Given the description of an element on the screen output the (x, y) to click on. 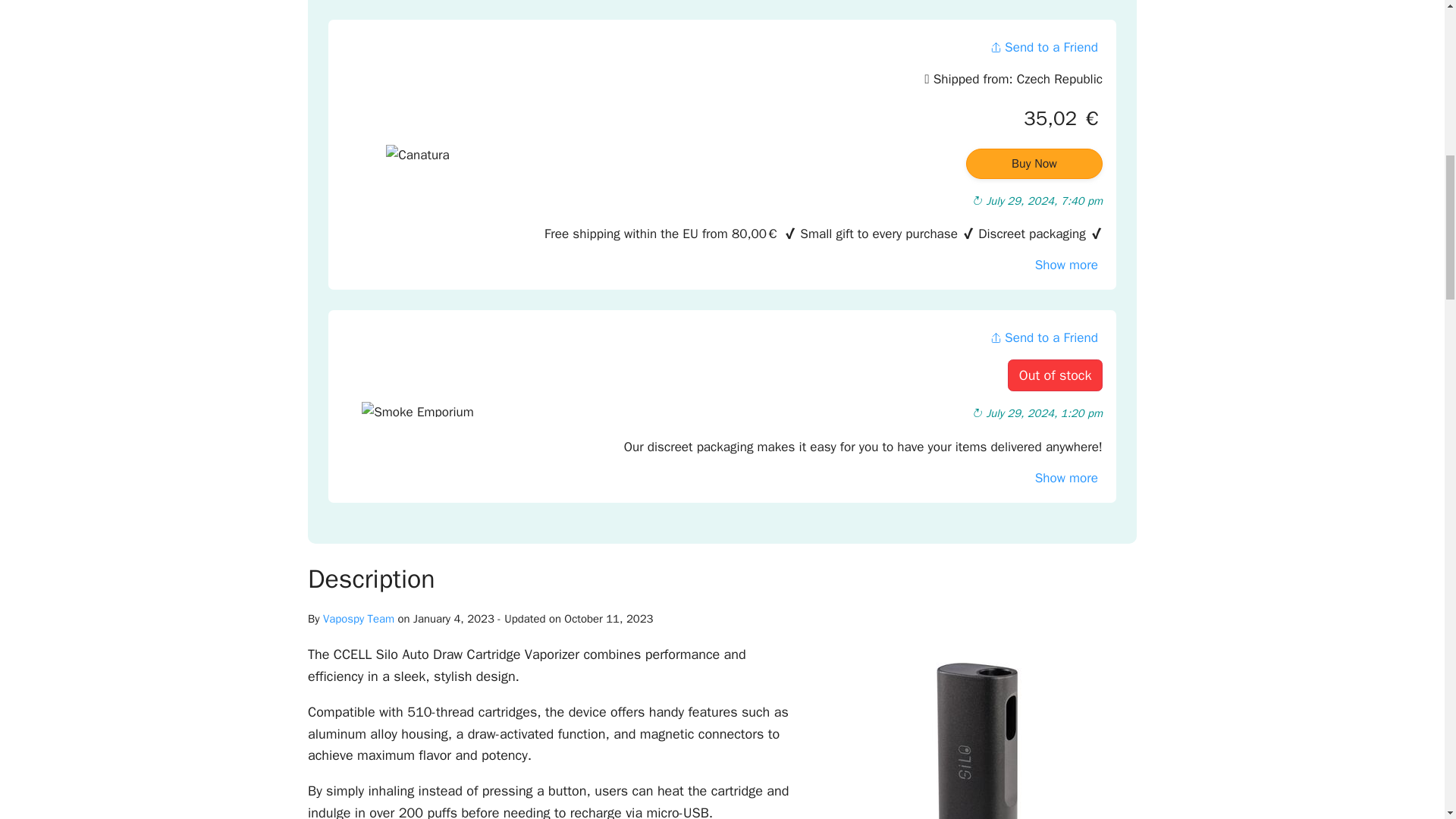
Out of stock (1054, 375)
Send to a Friend (1043, 47)
Show more (1066, 264)
Smoke Emporium (417, 409)
Vapospy Team (358, 618)
Buy Now (1034, 163)
Send to a Friend (1043, 337)
Canatura (417, 157)
Show more (1066, 478)
